Given the description of an element on the screen output the (x, y) to click on. 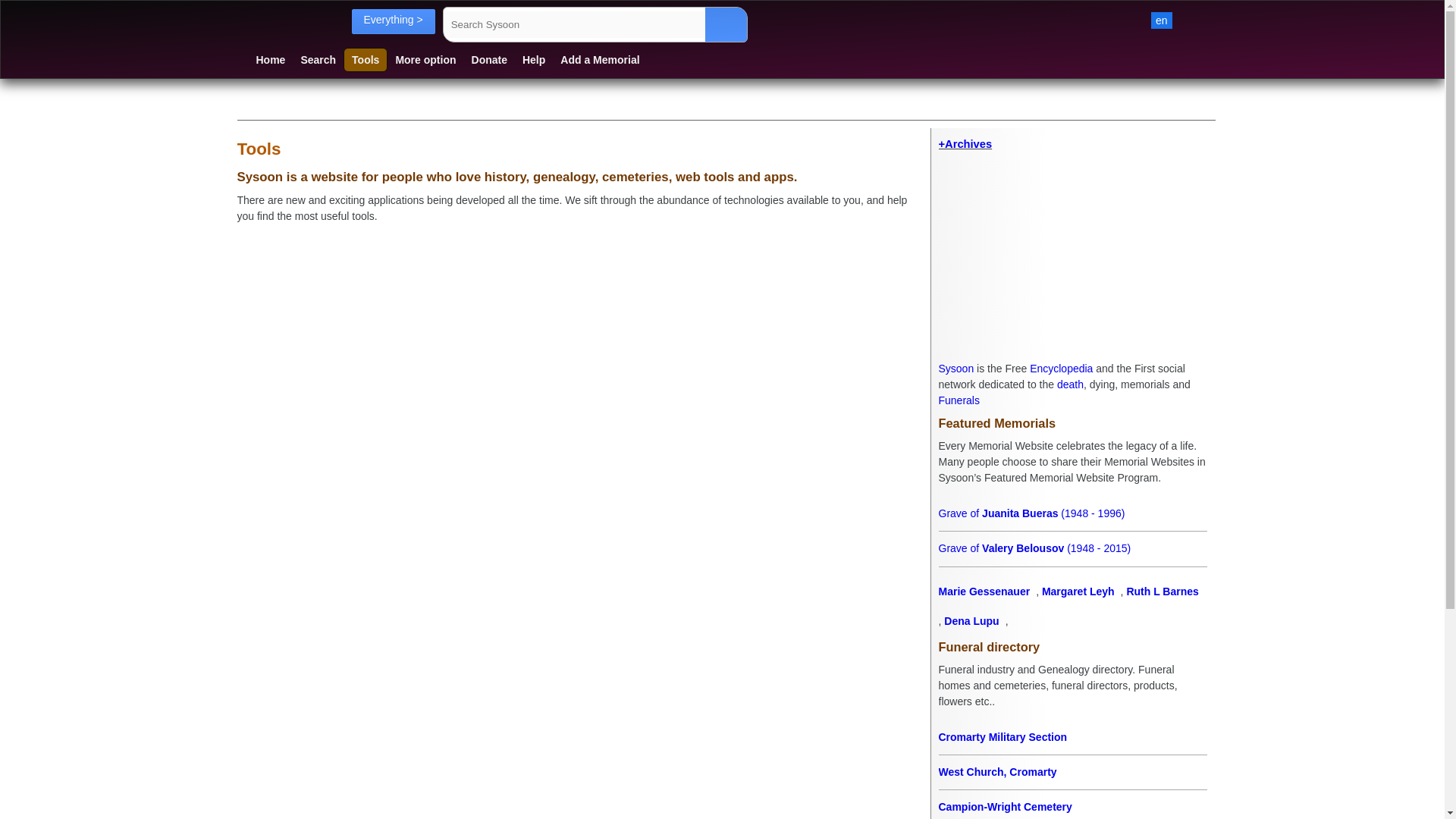
Search (317, 59)
Page (247, 106)
Tools (365, 59)
Settings (1161, 20)
Facebook (331, 106)
Juanita Bueras (1073, 513)
Campion-Wright Cemetery (1073, 804)
Donate (489, 59)
Help (534, 59)
Home (271, 59)
More option (425, 59)
Add a Memorial (599, 59)
West Church, Cromarty (1073, 772)
en (1161, 20)
Share (414, 106)
